Given the description of an element on the screen output the (x, y) to click on. 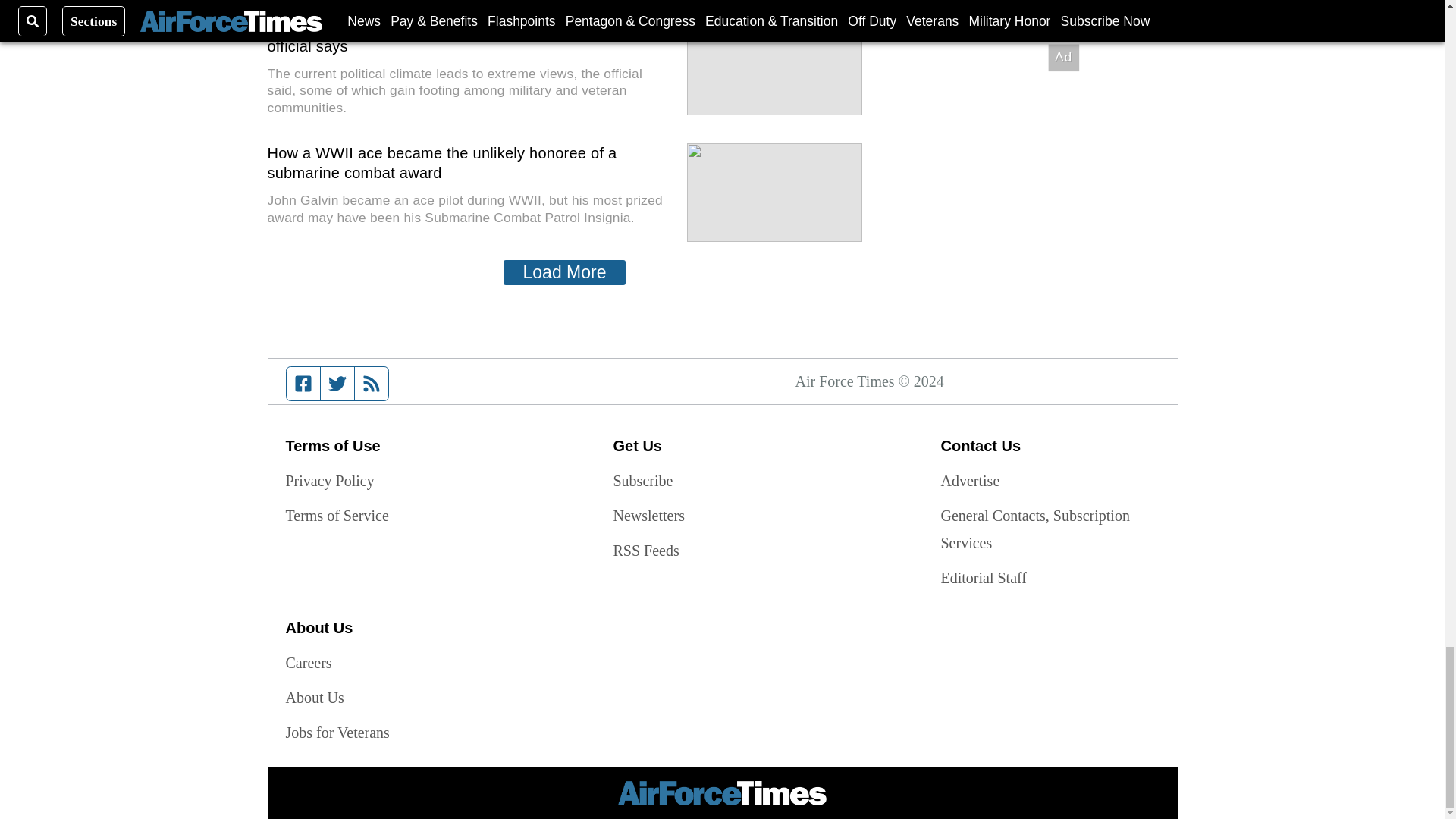
Twitter feed (336, 383)
Facebook page (303, 383)
RSS feed (371, 383)
